Given the description of an element on the screen output the (x, y) to click on. 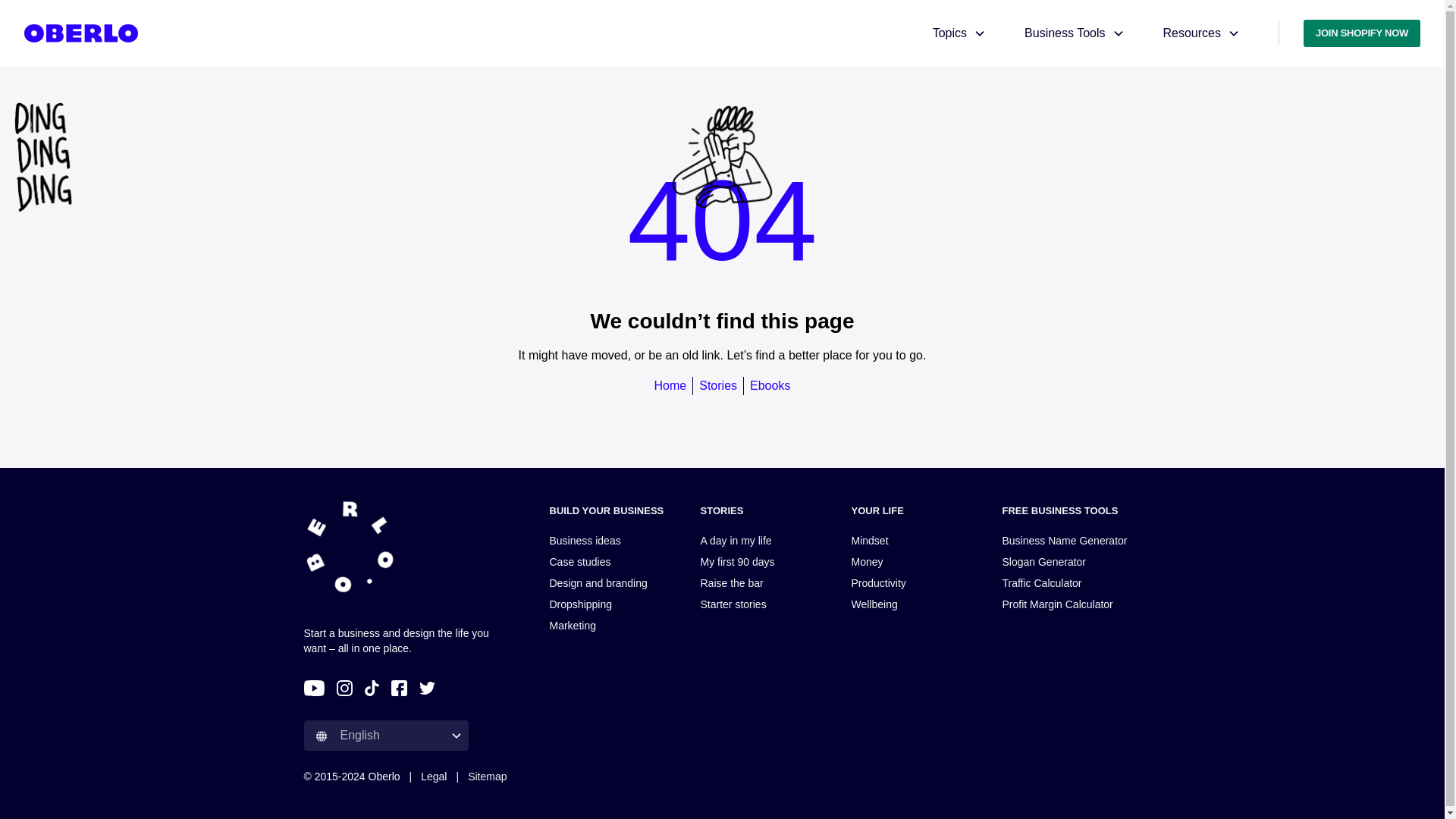
Home (670, 385)
JOIN SHOPIFY NOW (1362, 32)
